Given the description of an element on the screen output the (x, y) to click on. 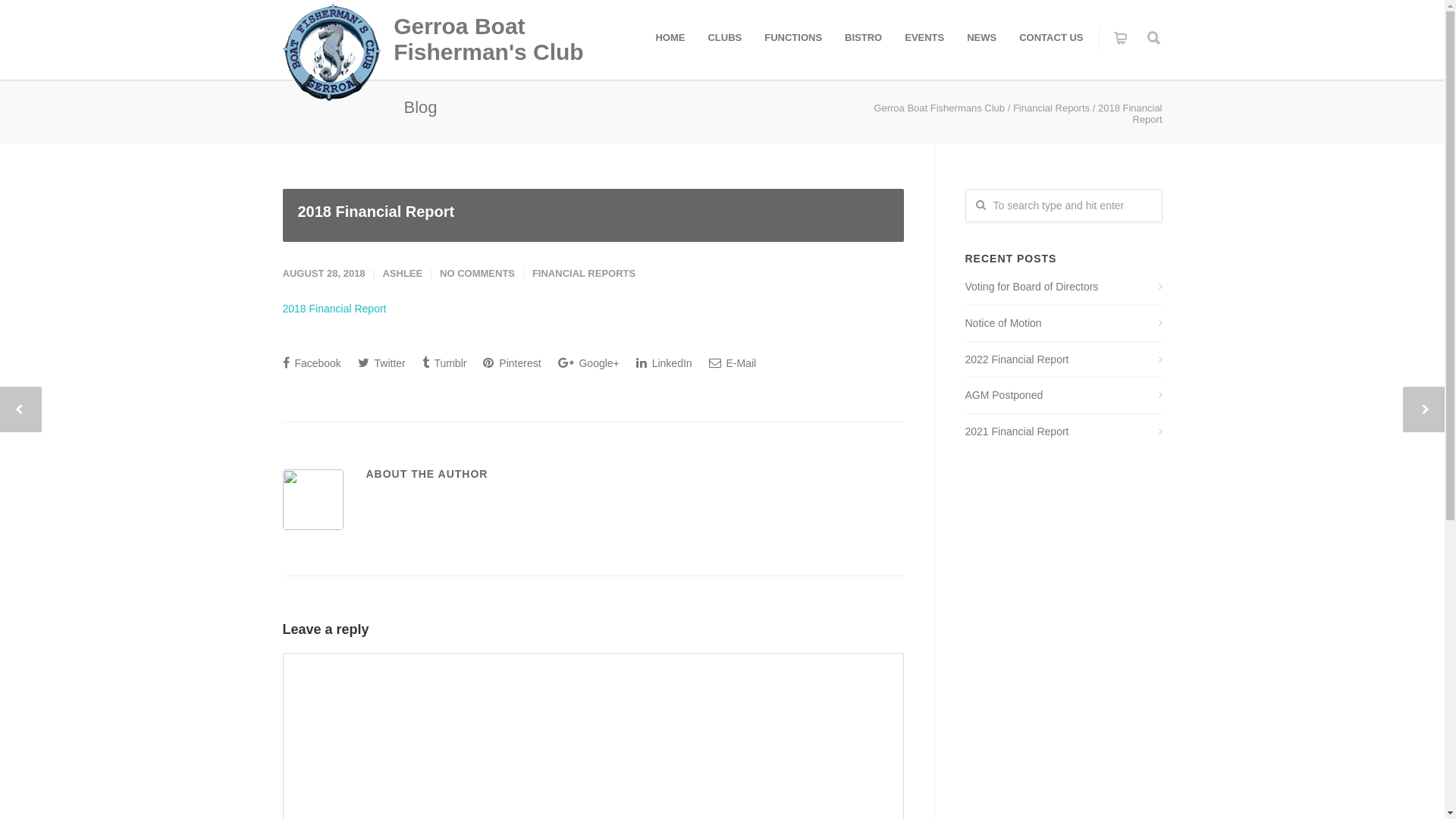
Twitter Element type: text (381, 362)
Gerroa Boat Fishermans Club Element type: text (938, 107)
AGM Postponed Element type: text (1062, 395)
Search Element type: text (39, 16)
FINANCIAL REPORTS Element type: text (583, 273)
2018 Financial Report Element type: text (333, 308)
E-Mail Element type: text (732, 362)
Financial Reports Element type: text (1051, 107)
Google+ Element type: text (588, 362)
HOME Element type: text (669, 37)
Pinterest Element type: text (511, 362)
CLUBS Element type: text (724, 37)
ASHLEE Element type: text (402, 273)
2021 Financial Report Element type: text (1062, 431)
LinkedIn Element type: text (664, 362)
Facebook Element type: text (311, 362)
2022 Financial Report Element type: text (1062, 359)
NO COMMENTS Element type: text (476, 273)
EVENTS Element type: text (924, 37)
NEWS Element type: text (981, 37)
2018 Financial Report Element type: text (592, 214)
Voting for Board of Directors Element type: text (1062, 286)
Notice of Motion Element type: text (1062, 323)
Tumblr Element type: text (444, 362)
FUNCTIONS Element type: text (793, 37)
BISTRO Element type: text (863, 37)
CONTACT US Element type: text (1050, 37)
